Given the description of an element on the screen output the (x, y) to click on. 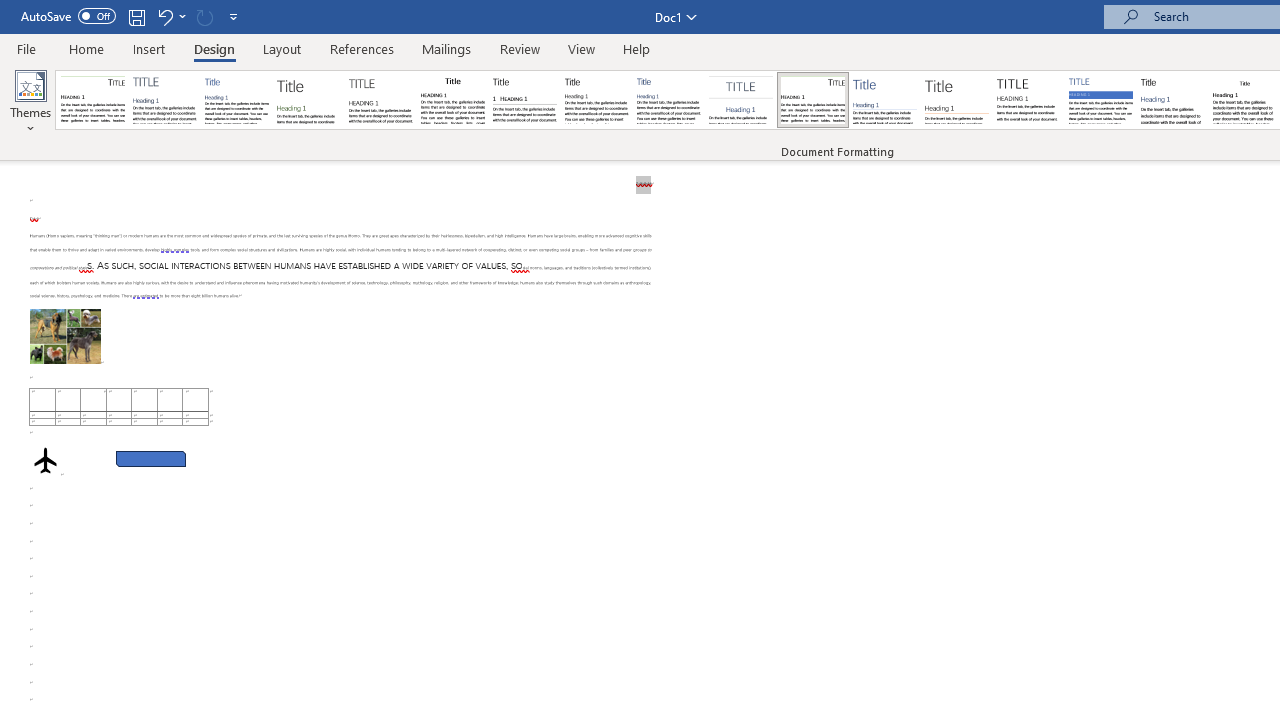
Basic (Elegant) (164, 100)
Undo Apply Quick Style Set (164, 15)
Morphological variation in six dogs (65, 336)
Casual (669, 100)
Airplane with solid fill (45, 459)
Black & White (Word 2013) (596, 100)
